Given the description of an element on the screen output the (x, y) to click on. 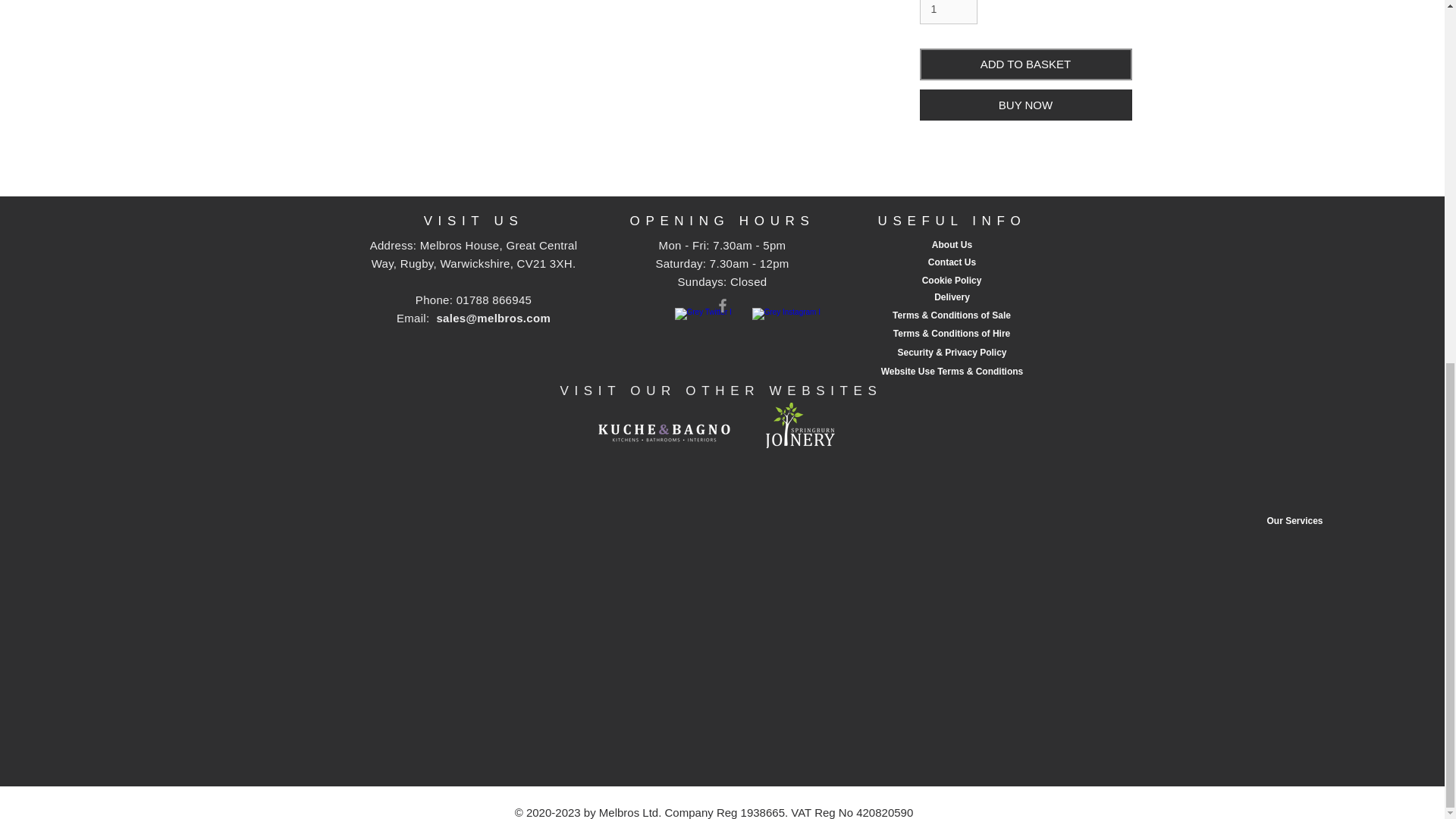
1 (947, 12)
